Given the description of an element on the screen output the (x, y) to click on. 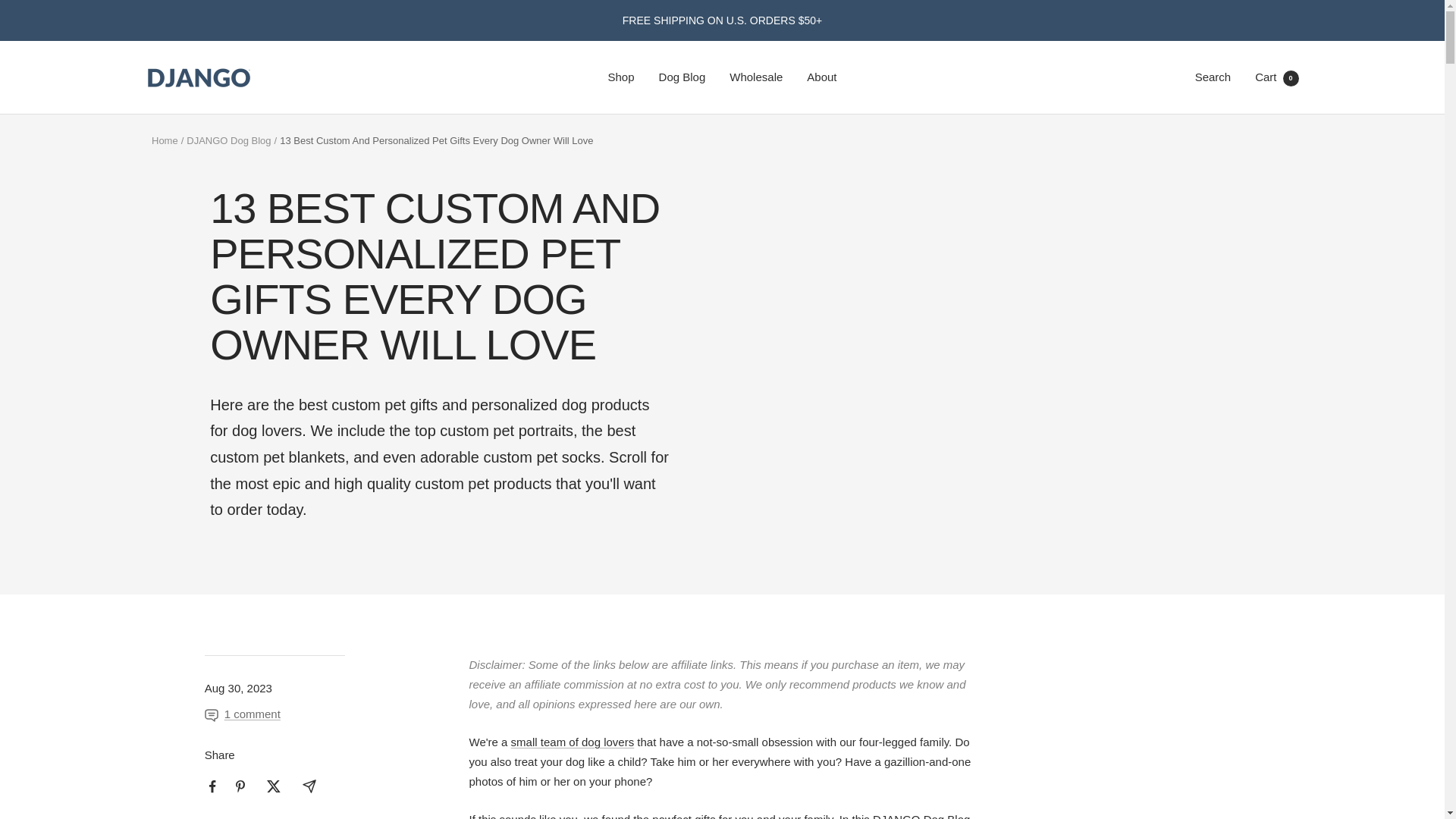
DJANGO - djangobrand.com (572, 741)
DJANGO (198, 77)
1 comment (243, 713)
About (820, 76)
Wholesale (756, 76)
DJANGO Dog Blog (228, 140)
Dog Blog (682, 76)
Search (1213, 76)
DJANGO Dog Blog - top dog blogs -  djangobrand.com (920, 816)
Home (164, 140)
Shop (621, 76)
